Given the description of an element on the screen output the (x, y) to click on. 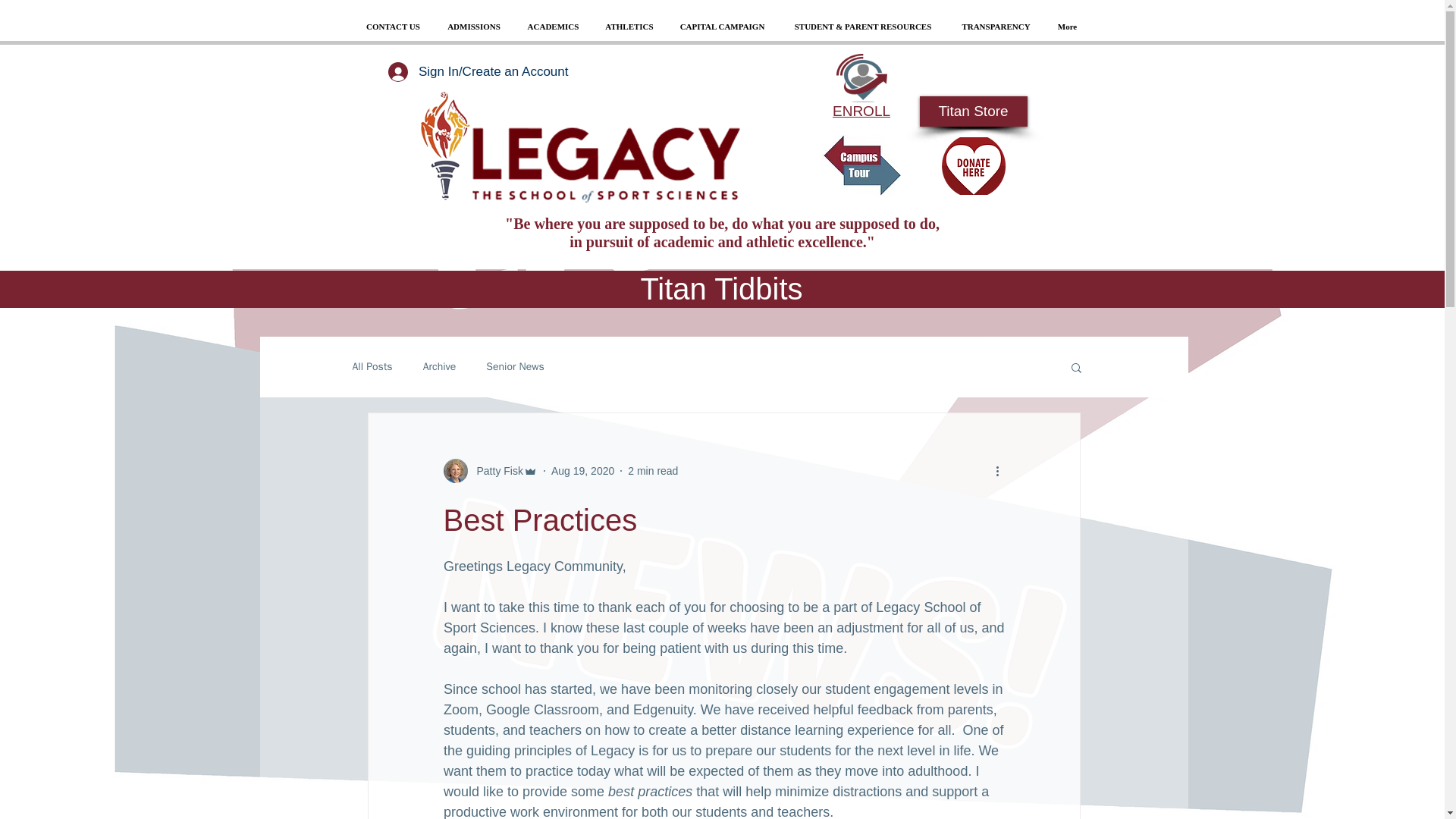
ATHLETICS (628, 27)
2 min read (652, 469)
Campus Tour Image.jpg (861, 165)
CONTACT US (393, 27)
Patty Fisk (494, 470)
Aug 19, 2020 (582, 469)
ACADEMICS (552, 27)
ADMISSIONS (474, 27)
